Given the description of an element on the screen output the (x, y) to click on. 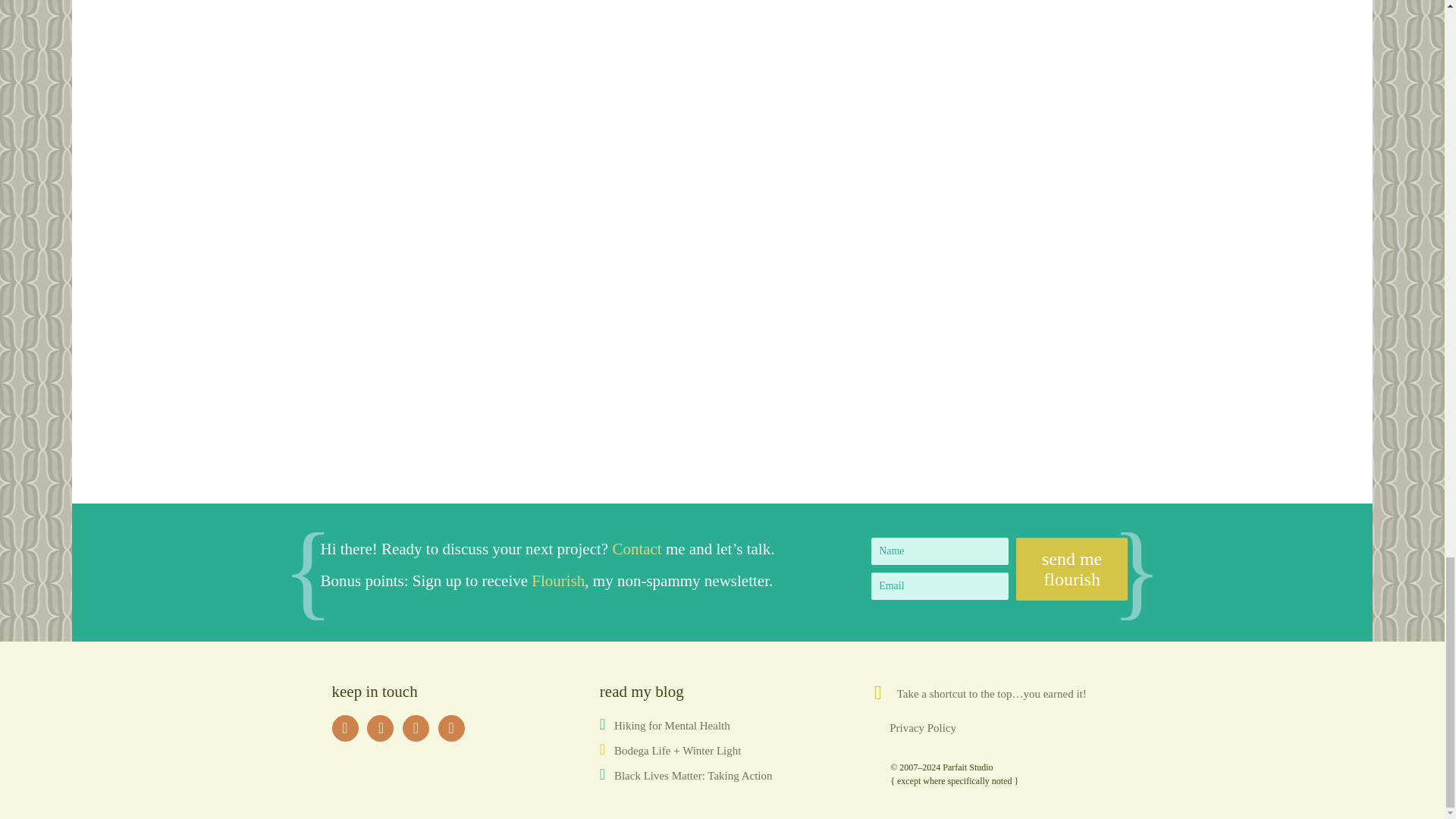
Flourish (558, 580)
send me flourish (1072, 568)
Black Lives Matter: Taking Action (693, 775)
send me flourish (1072, 568)
Contact (636, 548)
Privacy Policy (922, 727)
Hiking for Mental Health (672, 725)
